Given the description of an element on the screen output the (x, y) to click on. 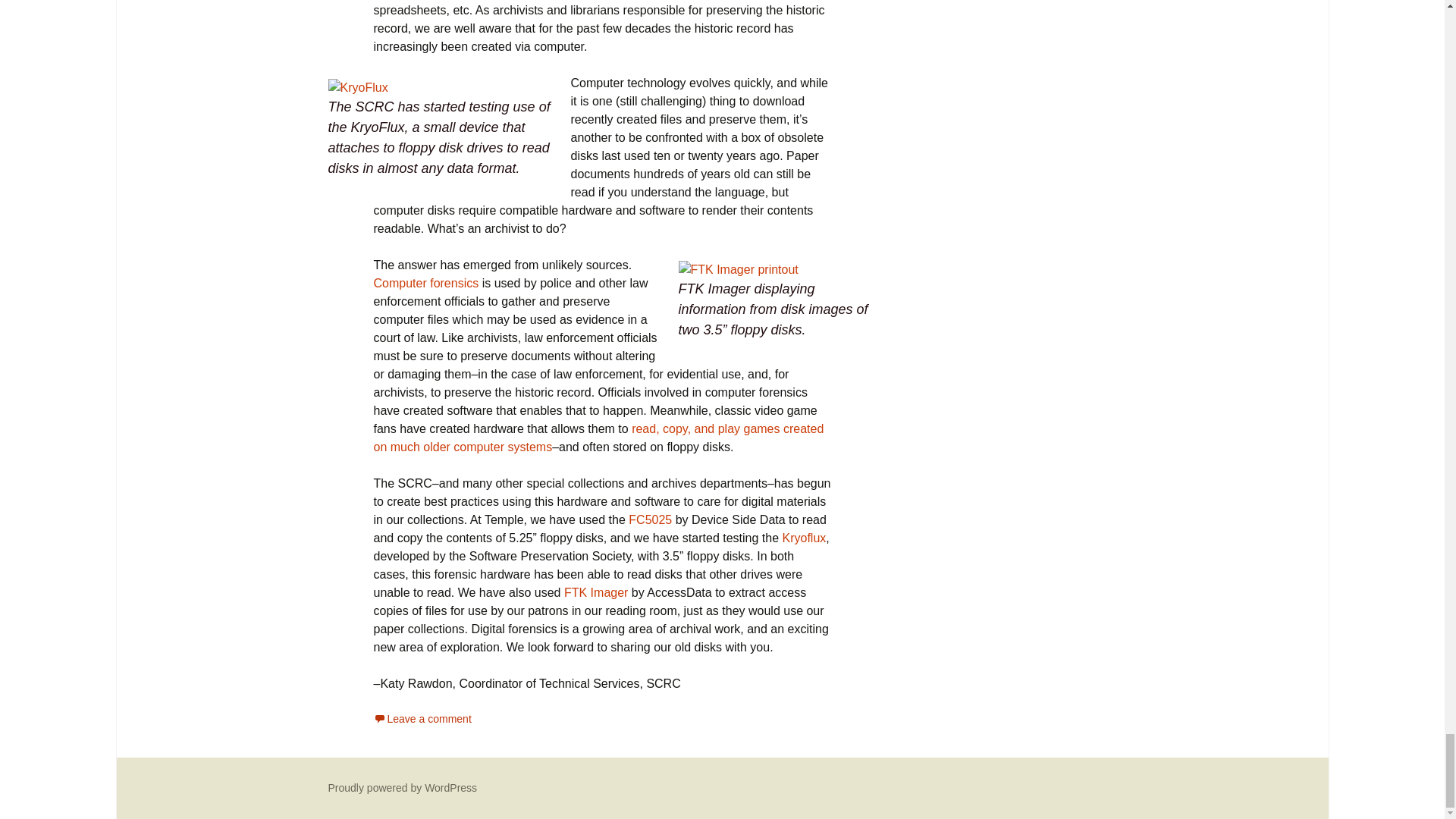
Computer Forensics (425, 282)
